Given the description of an element on the screen output the (x, y) to click on. 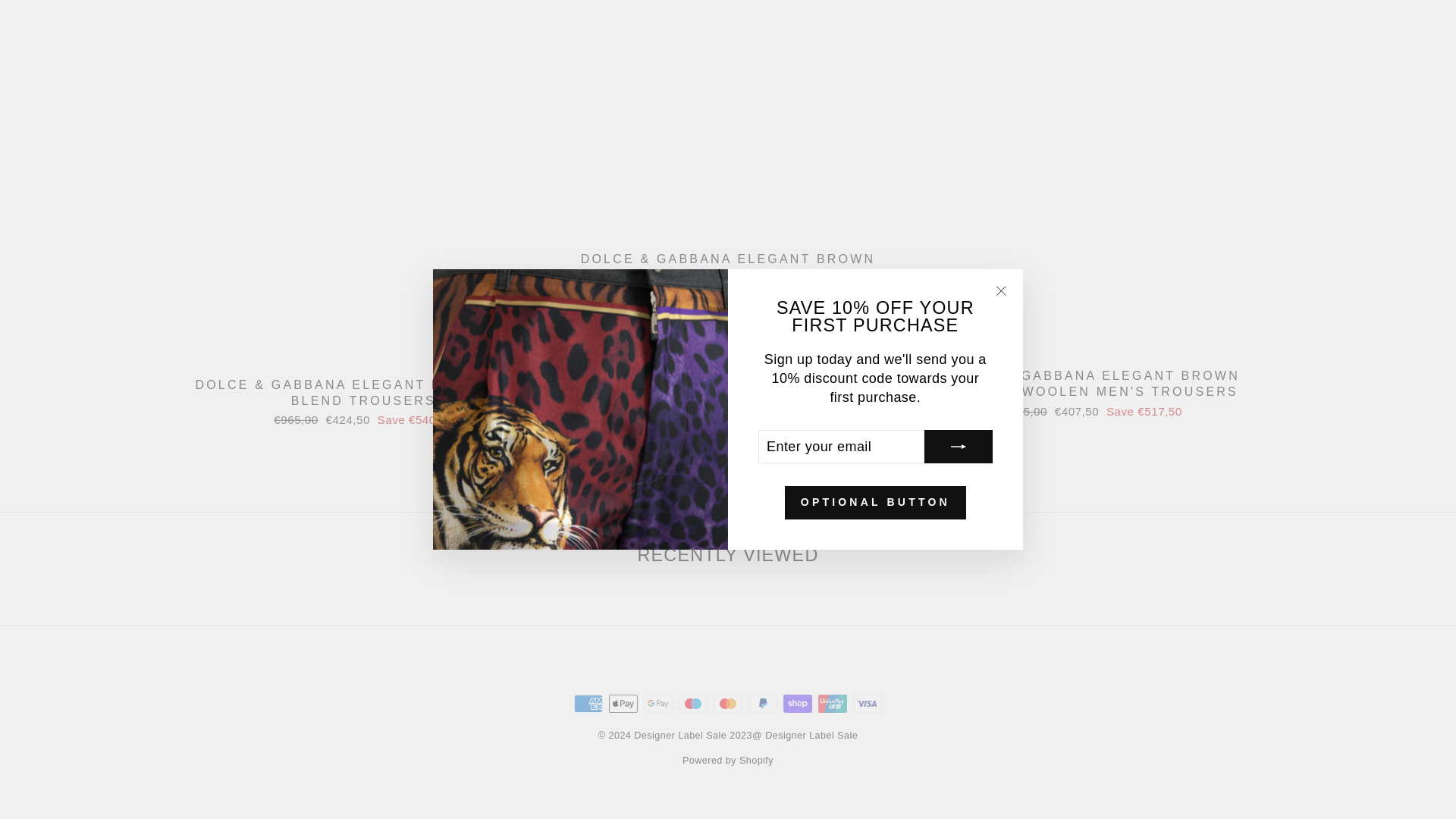
Shop Pay (797, 703)
Maestro (692, 703)
Apple Pay (622, 703)
Mastercard (727, 703)
American Express (587, 703)
Visa (867, 703)
Google Pay (657, 703)
Union Pay (832, 703)
PayPal (762, 703)
